Given the description of an element on the screen output the (x, y) to click on. 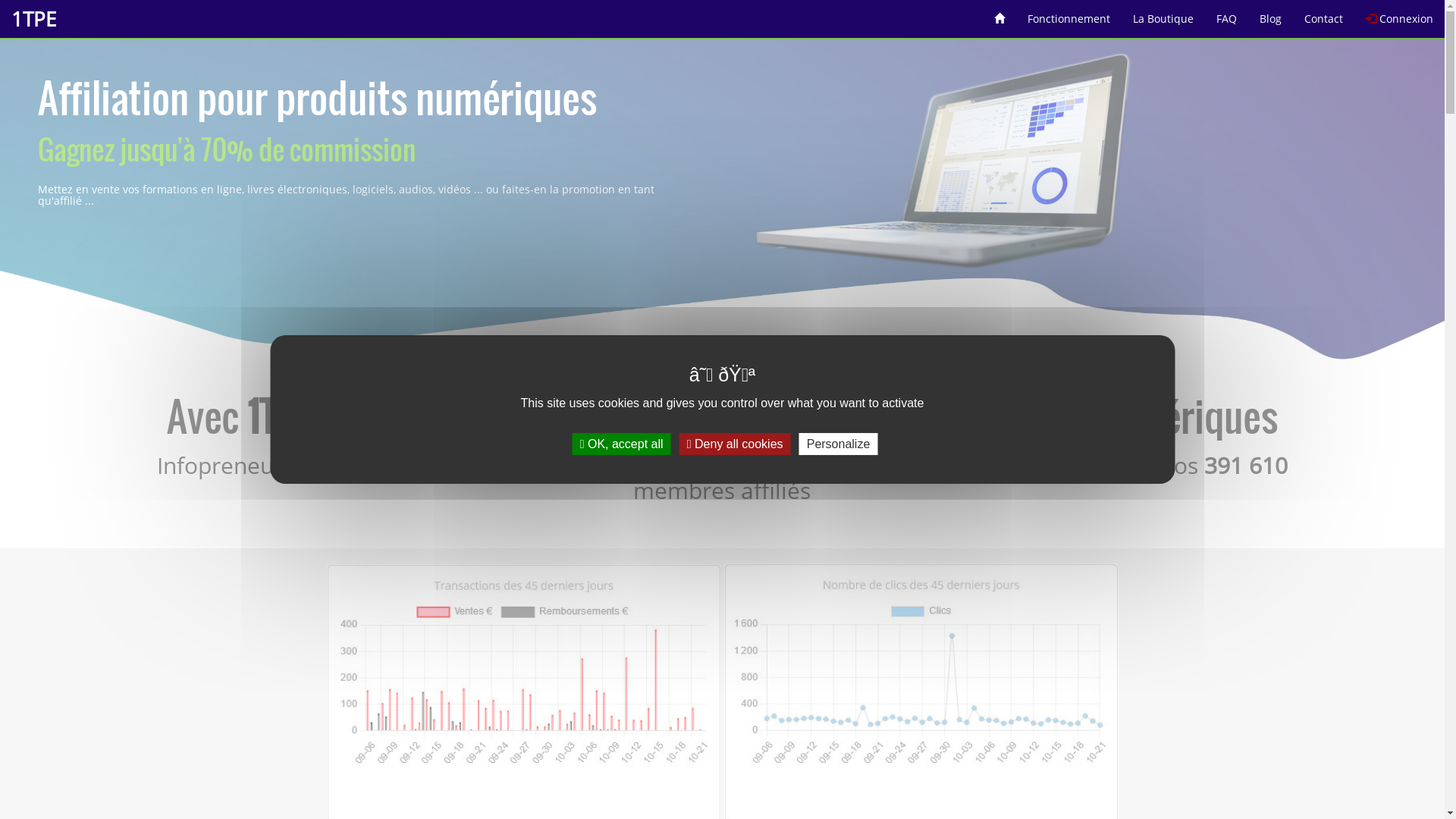
1TPE Element type: text (33, 18)
Connexion Element type: text (1399, 13)
Contact Element type: text (1323, 13)
FAQ Element type: text (1226, 13)
Personalize Element type: text (838, 444)
OK, accept all Element type: text (621, 444)
Fonctionnement Element type: text (1068, 13)
La Boutique Element type: text (1162, 13)
Blog Element type: text (1270, 13)
Deny all cookies Element type: text (734, 444)
